Given the description of an element on the screen output the (x, y) to click on. 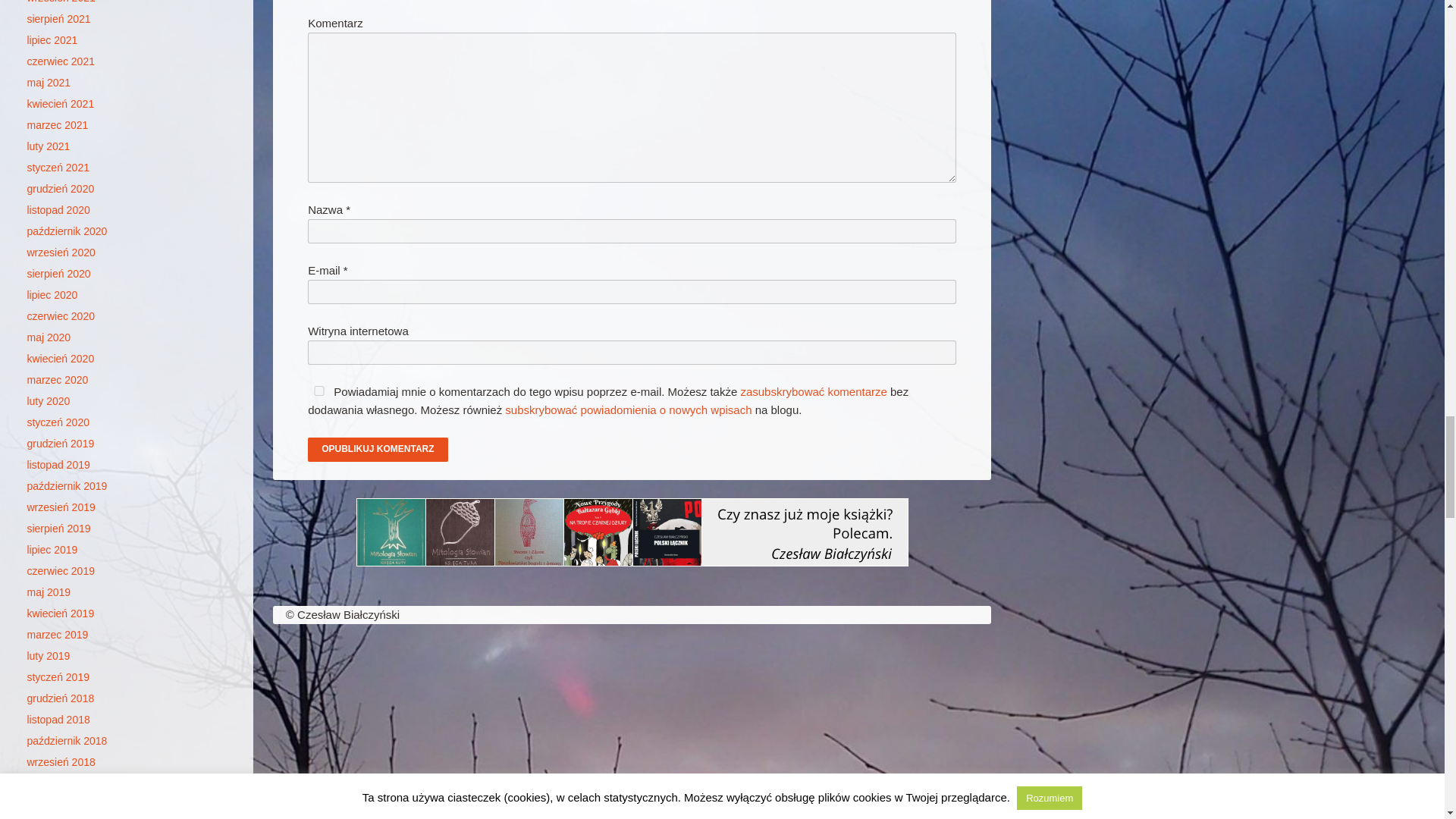
yes (318, 390)
Opublikuj komentarz (376, 449)
